Given the description of an element on the screen output the (x, y) to click on. 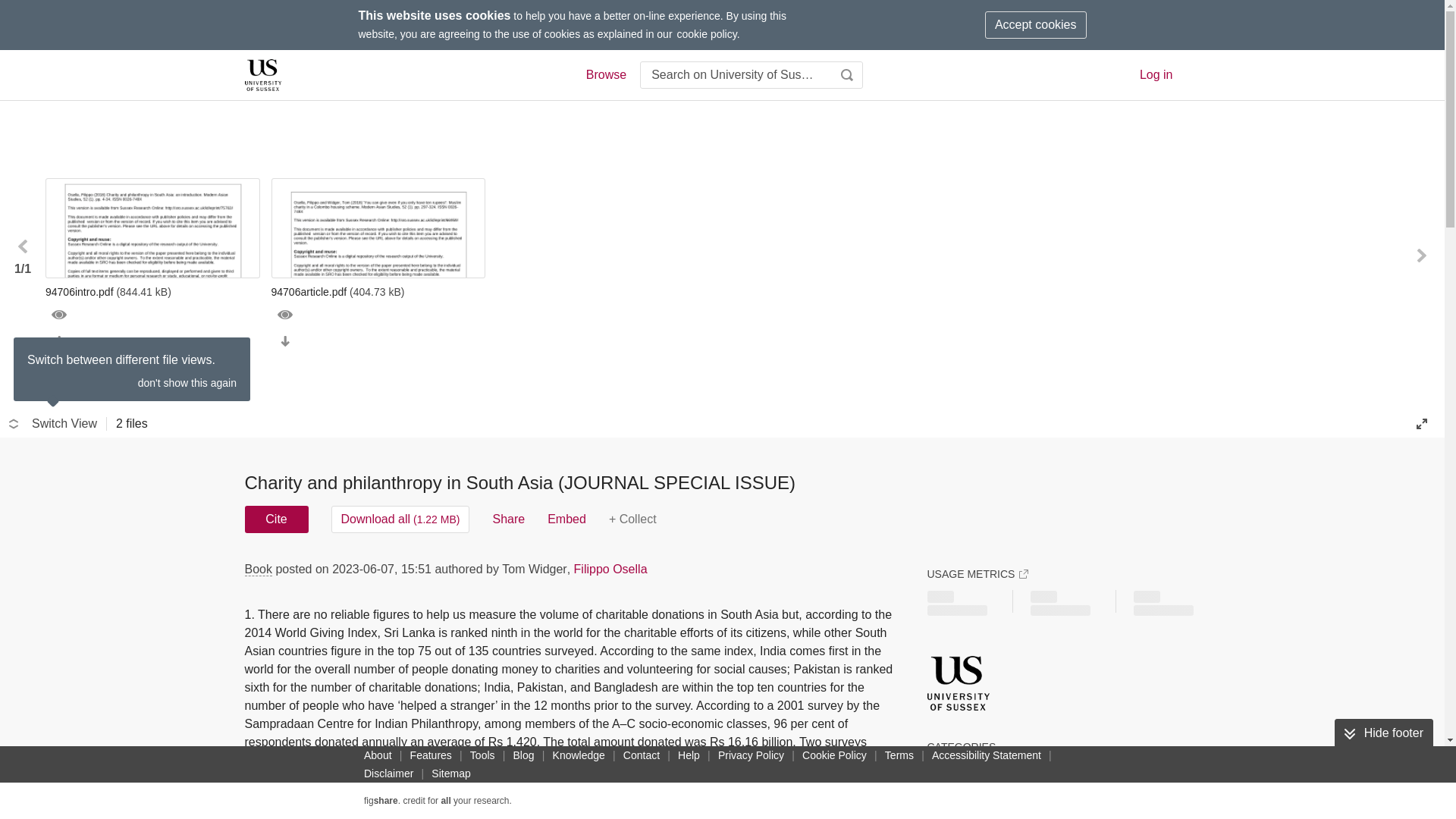
cookie policy (706, 33)
Accept cookies (1035, 24)
Share (508, 519)
you need to log in first (632, 519)
Embed (566, 519)
Browse (605, 75)
Filippo Osella (610, 568)
don't show this again (186, 382)
94706article.pdf (378, 291)
Log in (1156, 74)
94706intro.pdf (152, 291)
Switch View (52, 423)
USAGE METRICS (976, 574)
Cite (275, 519)
